Given the description of an element on the screen output the (x, y) to click on. 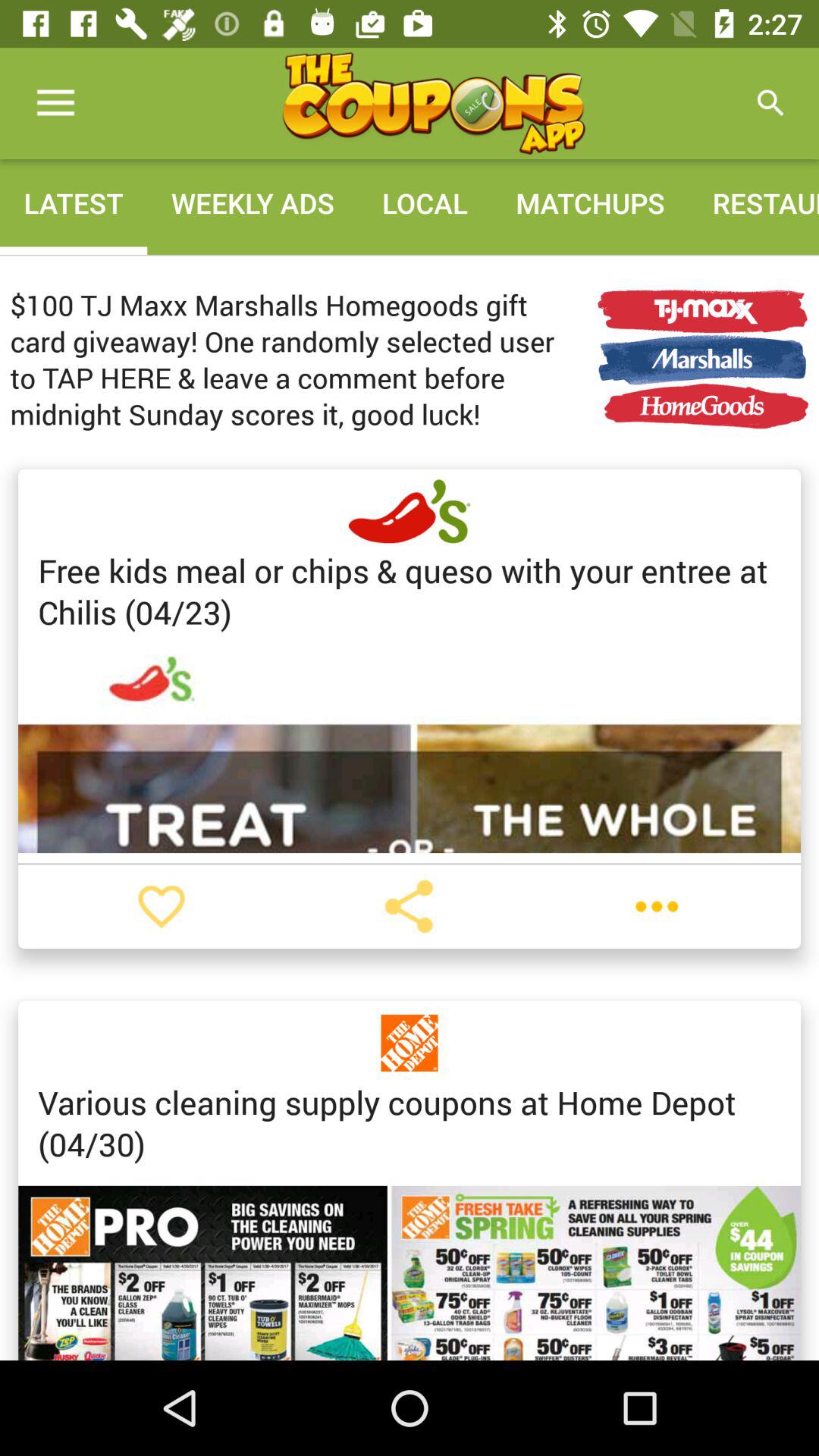
app logo (432, 103)
